Given the description of an element on the screen output the (x, y) to click on. 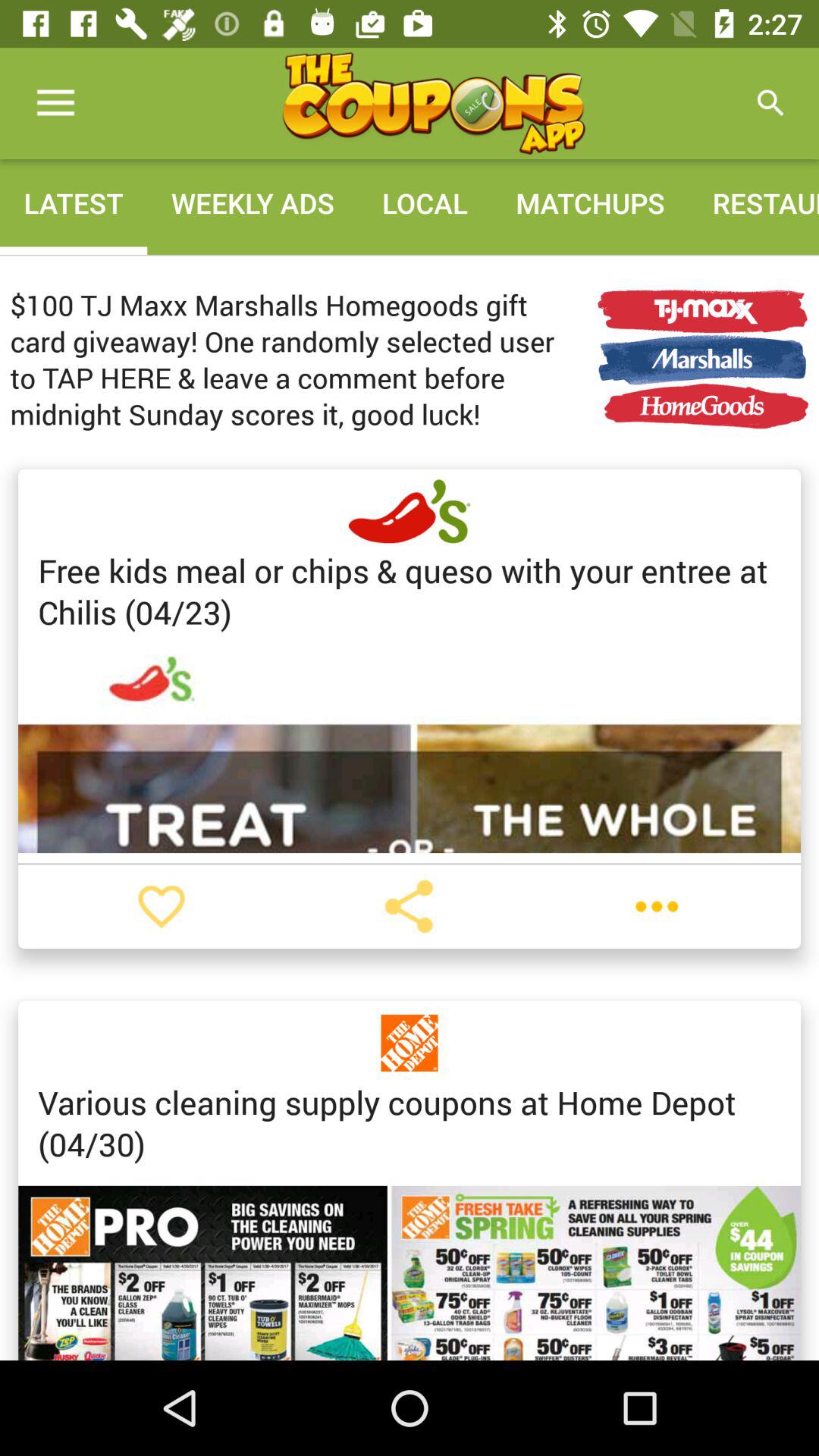
app logo (432, 103)
